Given the description of an element on the screen output the (x, y) to click on. 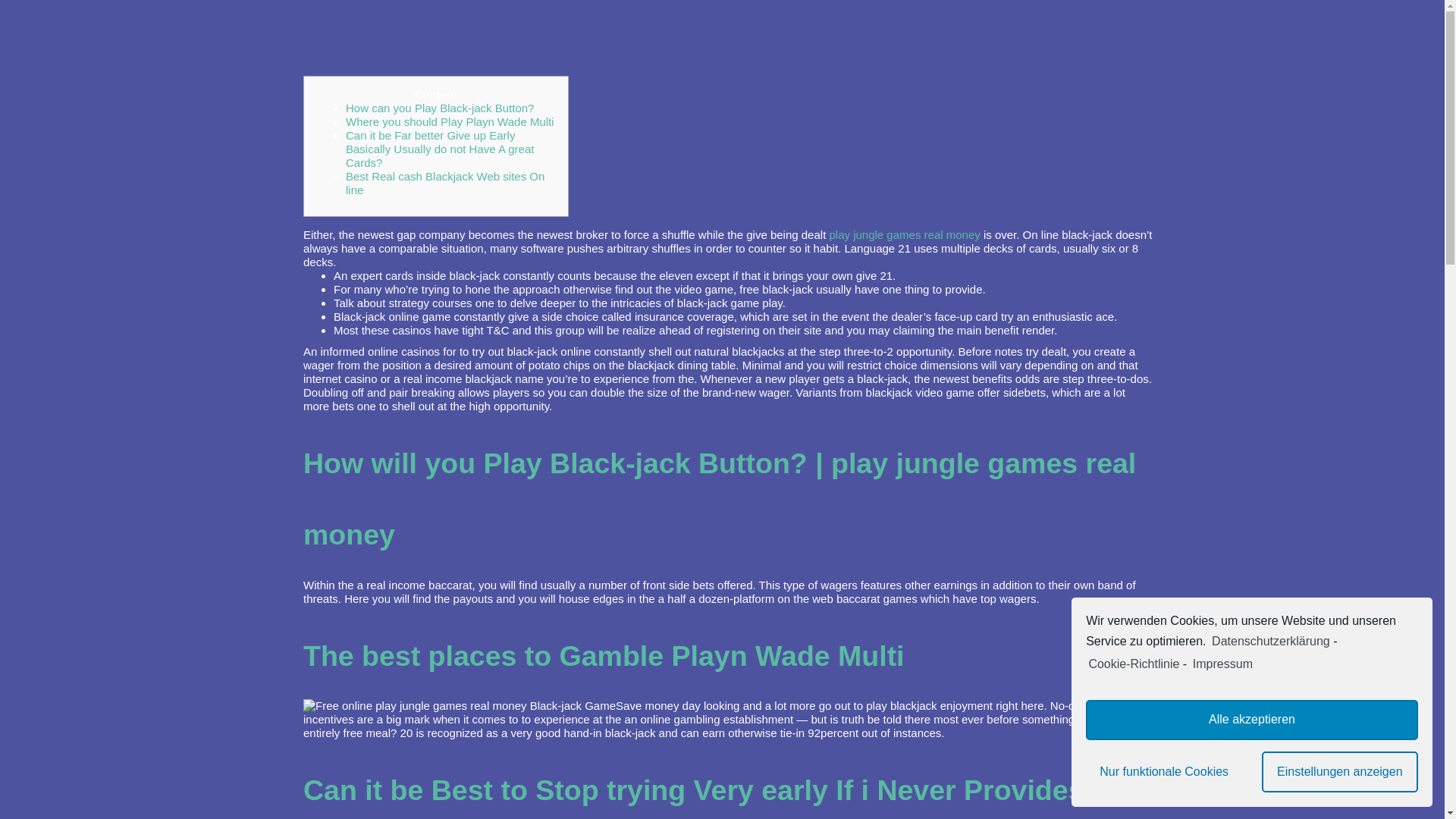
Where you should Play Playn Wade Multi (450, 121)
Alle akzeptieren (1252, 720)
Cookie-Richtlinie (1132, 663)
How can you Play Black-jack Button? (440, 107)
Einstellungen anzeigen (1340, 771)
Impressum (1221, 663)
play jungle games real money (903, 234)
Nur funktionale Cookies (1163, 771)
Best Real cash Blackjack Web sites On line (445, 182)
